Given the description of an element on the screen output the (x, y) to click on. 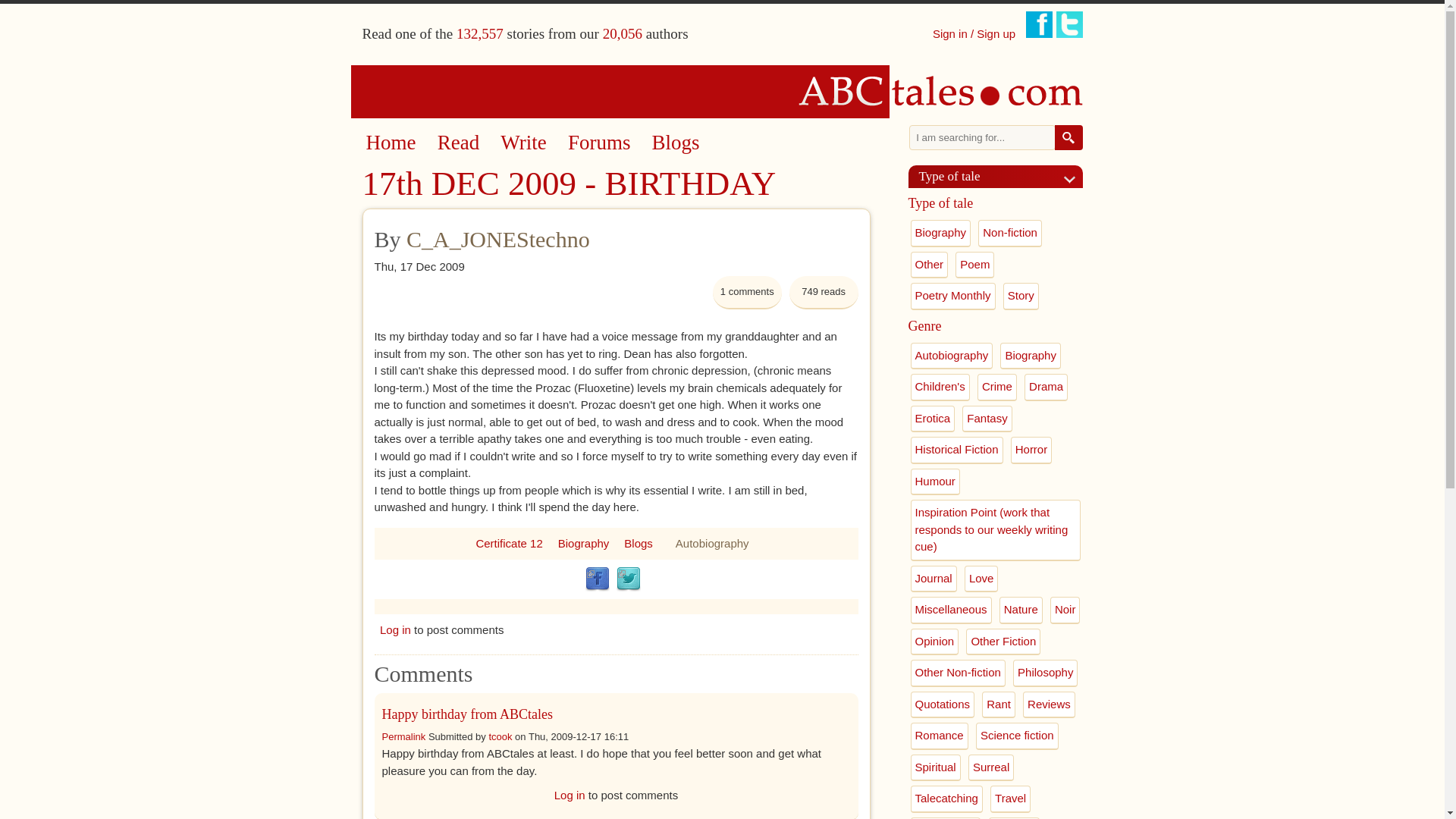
Permalink (403, 736)
Historical Fiction (956, 450)
Twitter (627, 579)
Read (458, 142)
Home (722, 91)
View user profile. (499, 736)
Humour (934, 482)
Drama (1046, 387)
Crime (996, 387)
Facebook (597, 579)
Other (928, 265)
Type of tale (1000, 175)
Home (389, 142)
Blogs (676, 142)
Story (1021, 296)
